Given the description of an element on the screen output the (x, y) to click on. 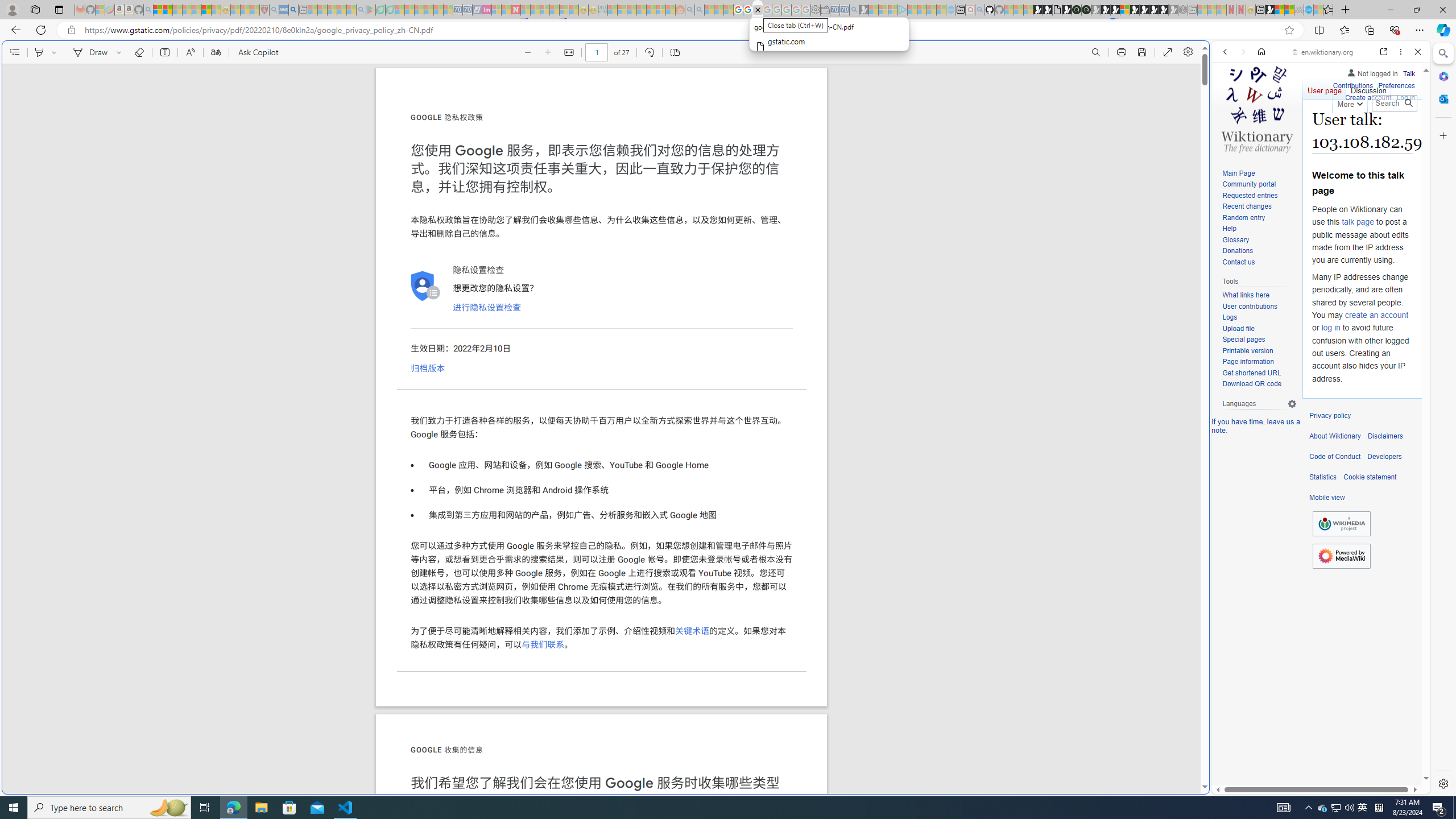
Frequently visited (965, 151)
The Weather Channel - MSN - Sleeping (177, 9)
Search Filter, VIDEOS (1300, 129)
Log in (1405, 96)
google_privacy_policy_zh-CN.pdf (1118, 683)
log in (1330, 327)
